Given the description of an element on the screen output the (x, y) to click on. 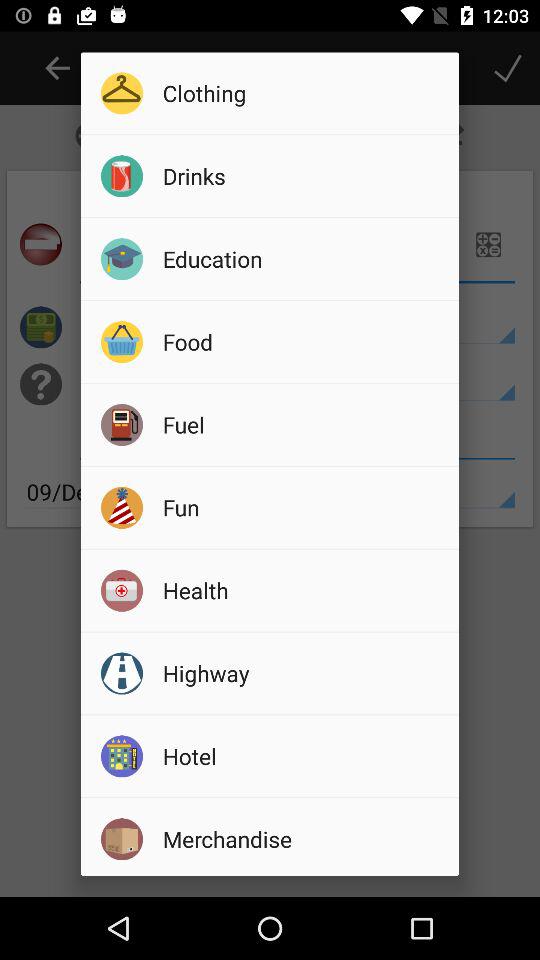
tap the icon below the education icon (303, 341)
